Given the description of an element on the screen output the (x, y) to click on. 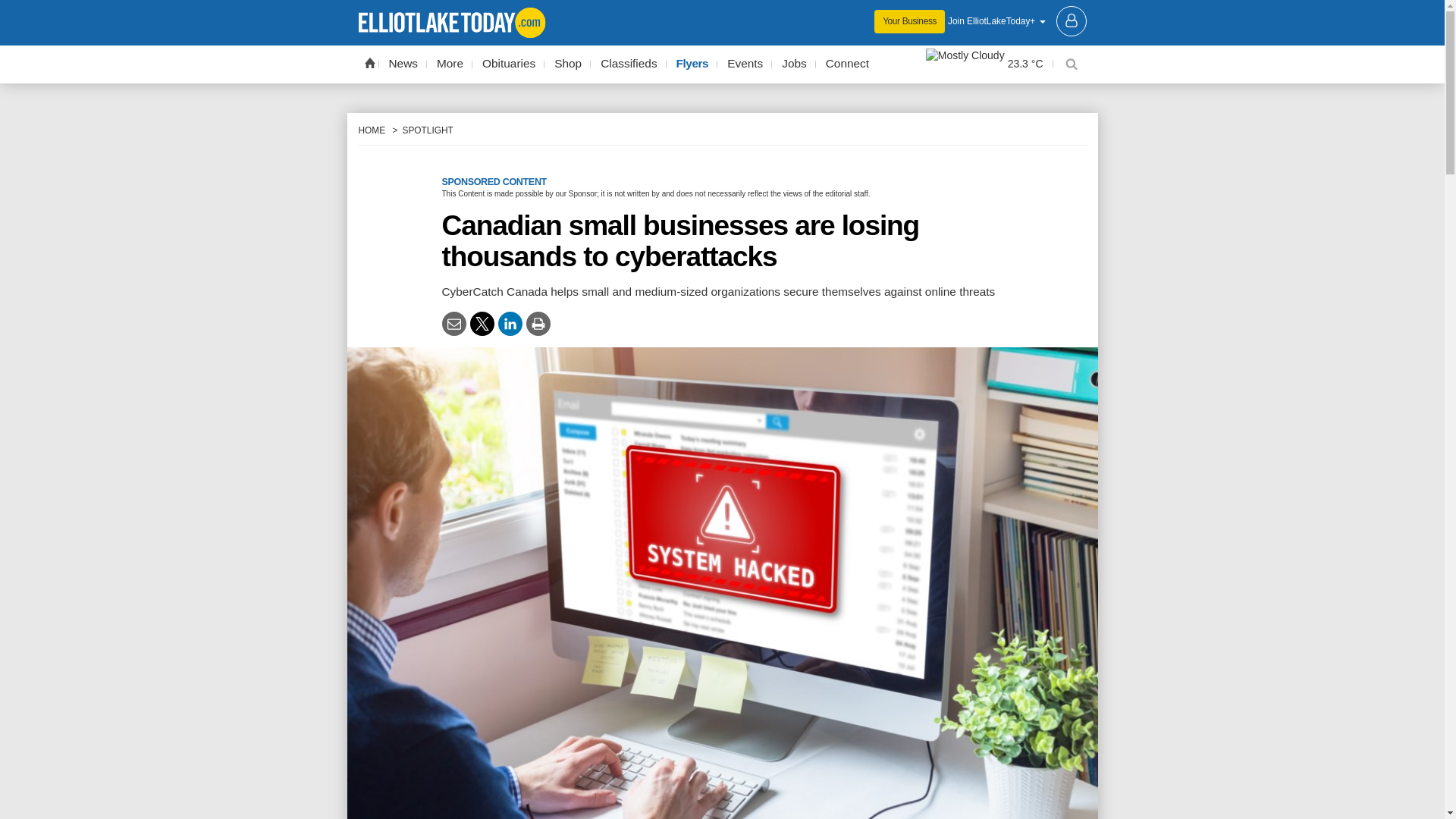
News (403, 64)
Home (368, 62)
Your Business (909, 21)
